Given the description of an element on the screen output the (x, y) to click on. 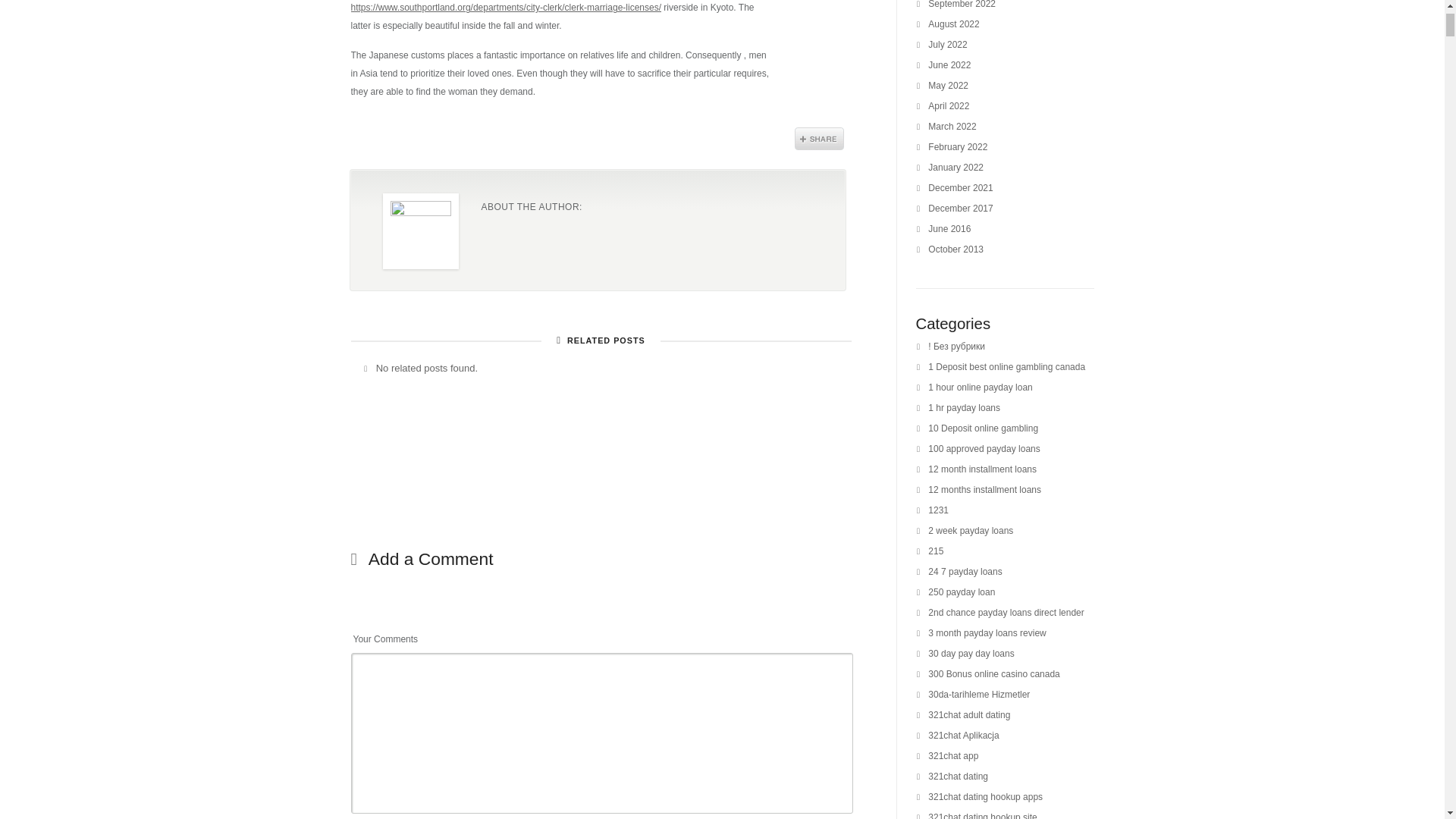
Share (819, 138)
